Given the description of an element on the screen output the (x, y) to click on. 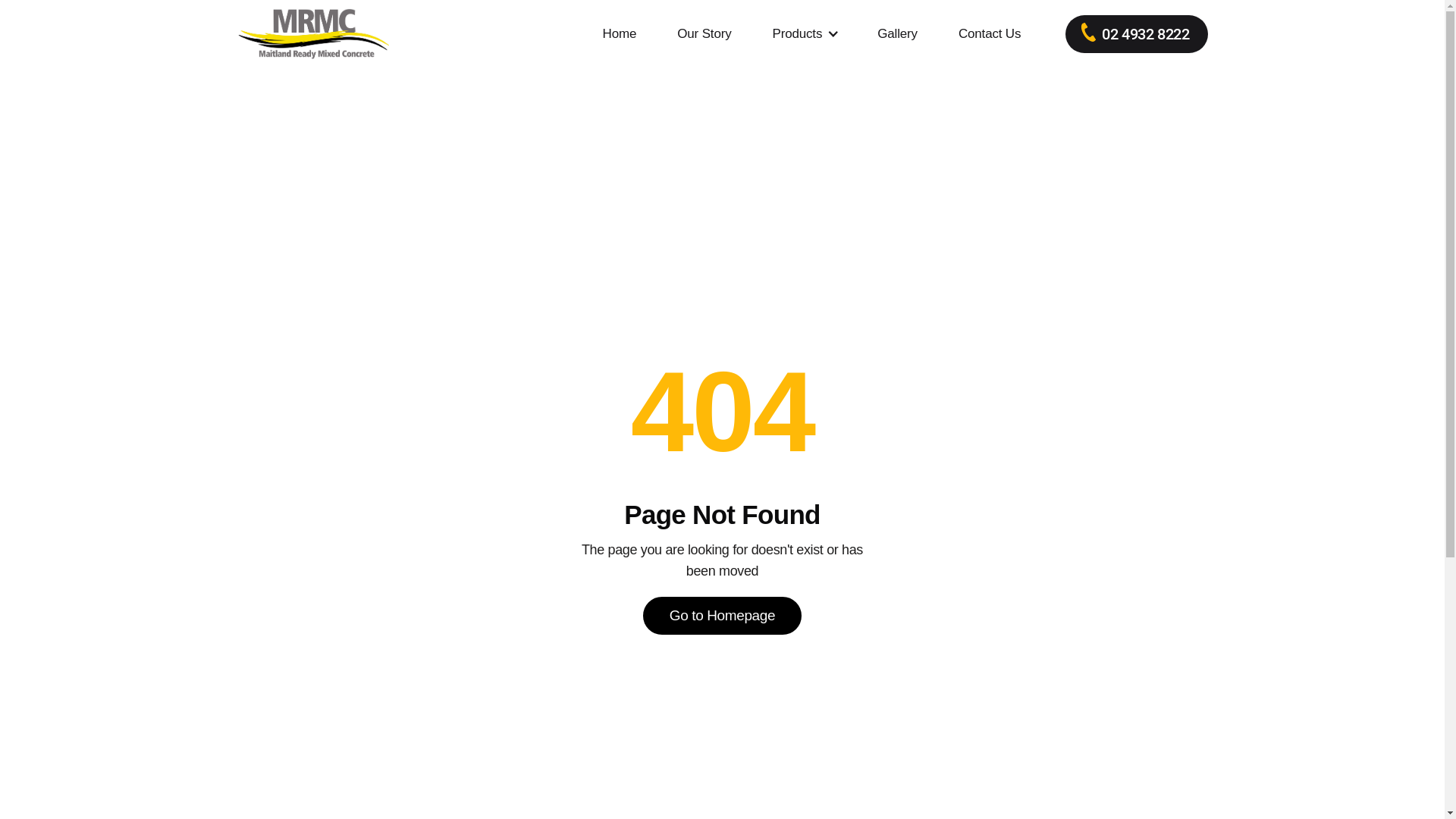
Gallery Element type: text (897, 33)
Our Story Element type: text (703, 33)
Go to Homepage Element type: text (722, 615)
Home Element type: text (619, 33)
Contact Us Element type: text (989, 33)
